Given the description of an element on the screen output the (x, y) to click on. 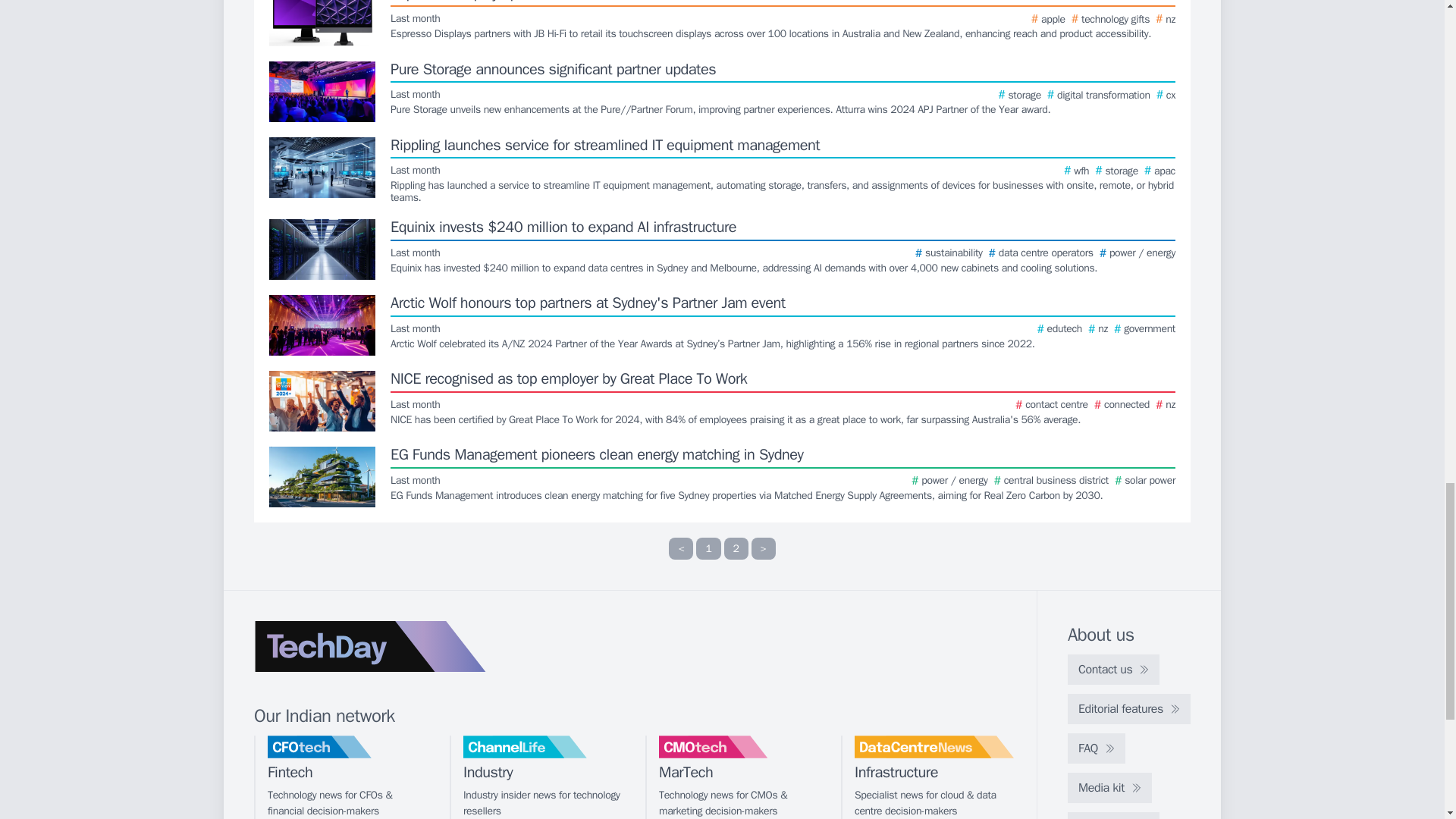
1 (707, 548)
2 (735, 548)
